Given the description of an element on the screen output the (x, y) to click on. 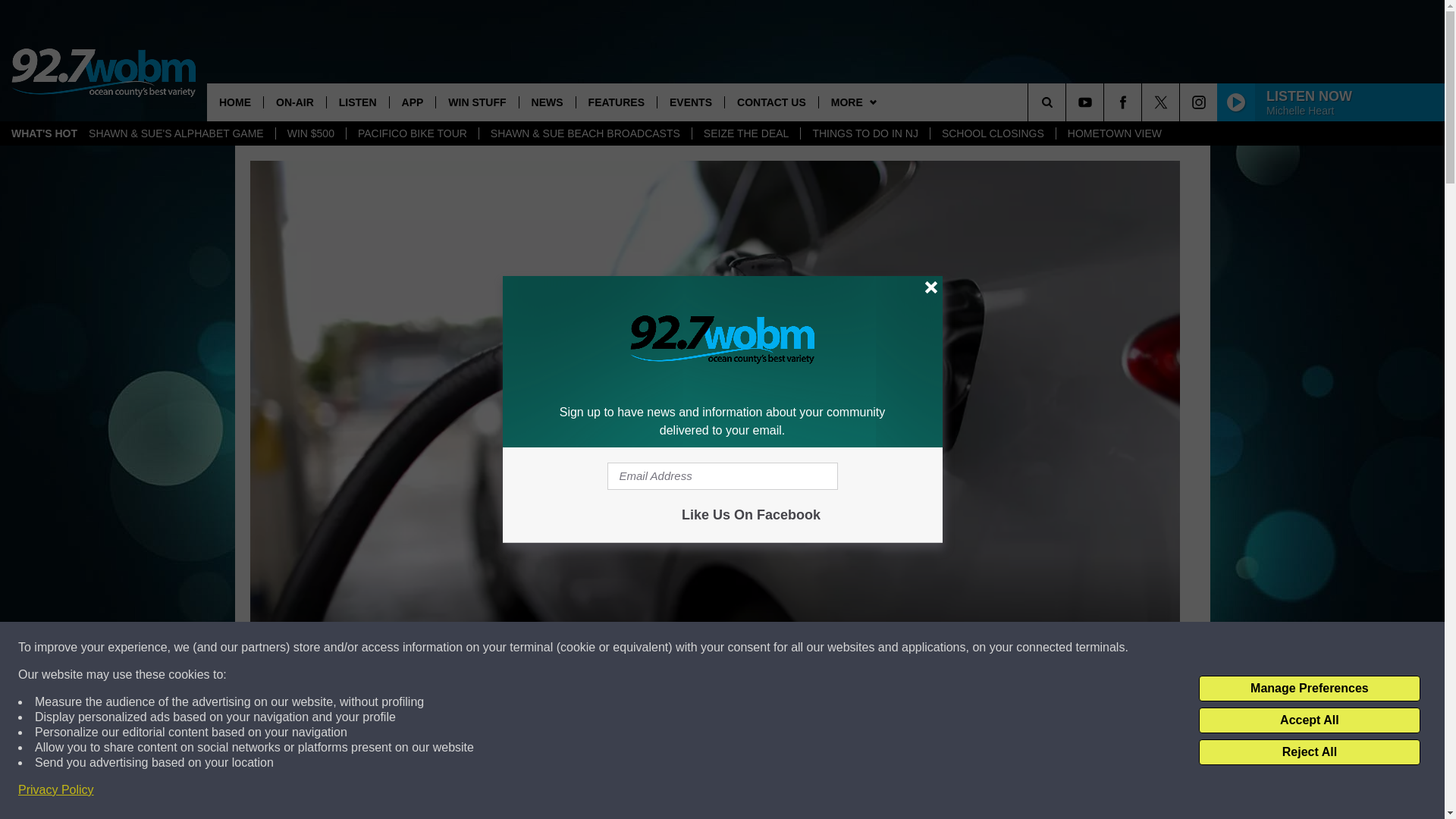
SEIZE THE DEAL (745, 133)
SEARCH (1068, 102)
SCHOOL CLOSINGS (992, 133)
Email Address (722, 475)
Manage Preferences (1309, 688)
LISTEN (357, 102)
HOMETOWN VIEW (1114, 133)
Share on Facebook (517, 791)
ON-AIR (294, 102)
Accept All (1309, 720)
Reject All (1309, 751)
Share on Twitter (912, 791)
Privacy Policy (55, 789)
PACIFICO BIKE TOUR (412, 133)
THINGS TO DO IN NJ (864, 133)
